Given the description of an element on the screen output the (x, y) to click on. 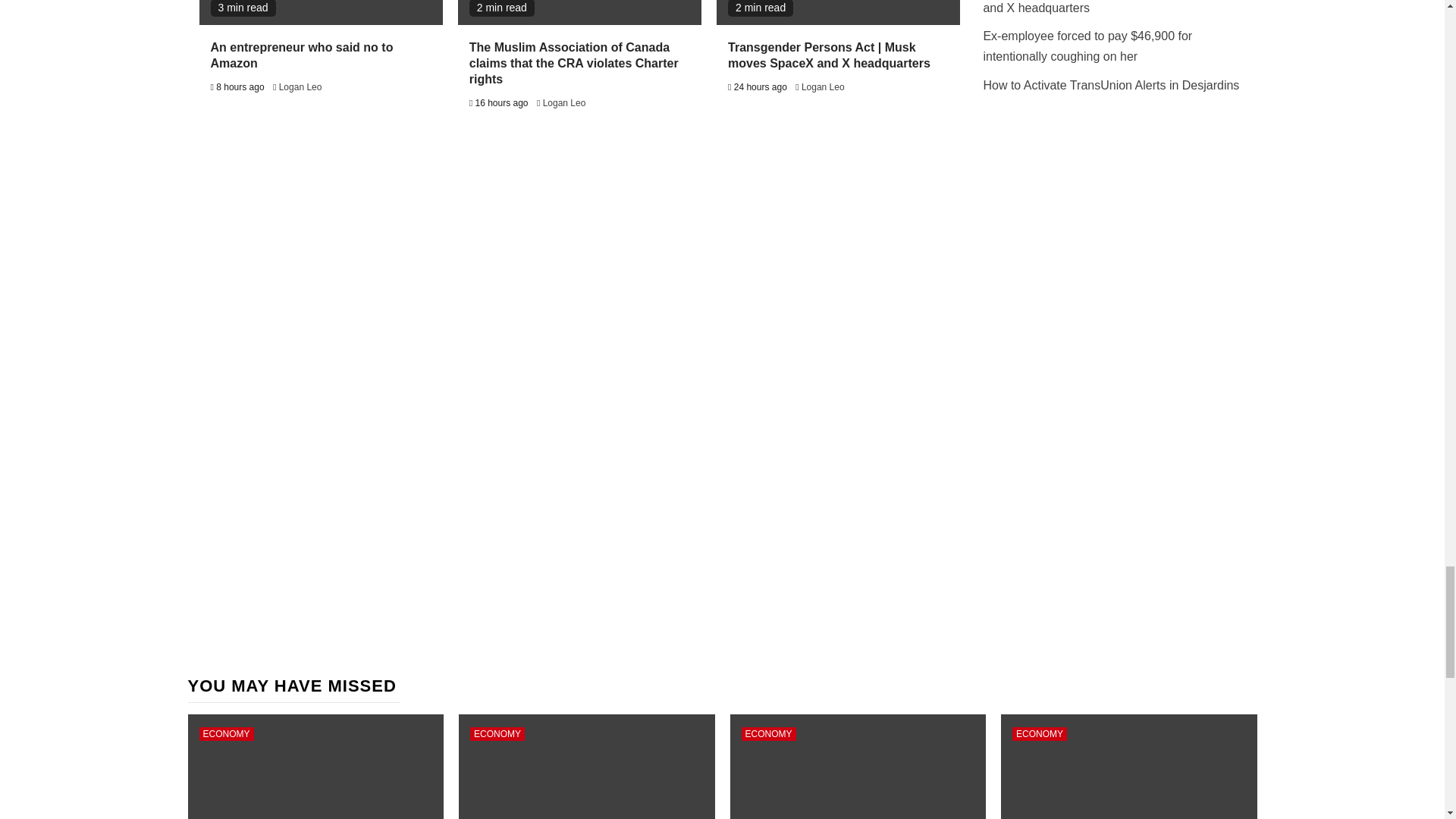
An entrepreneur who said no to Amazon (302, 54)
Logan Leo (564, 102)
Logan Leo (300, 86)
